Given the description of an element on the screen output the (x, y) to click on. 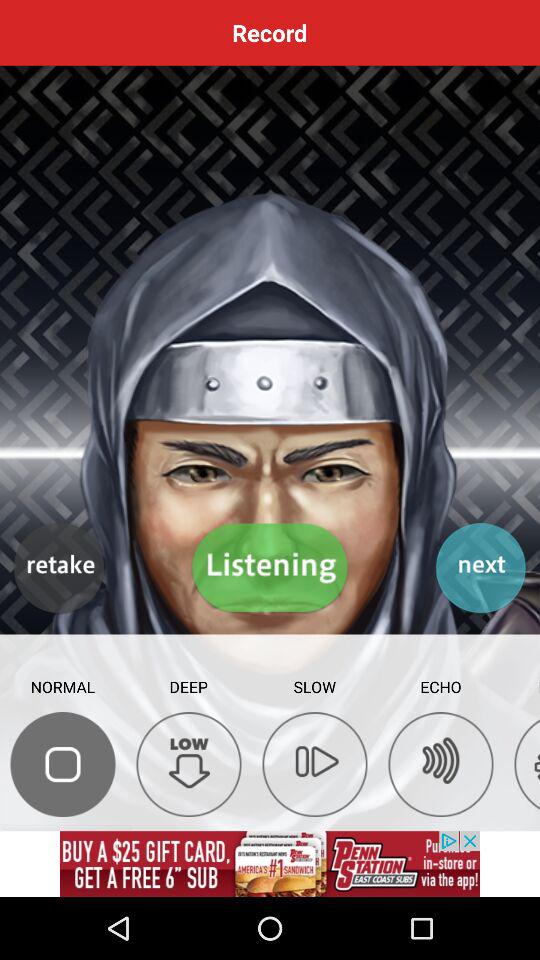
use normal voice (62, 764)
